Given the description of an element on the screen output the (x, y) to click on. 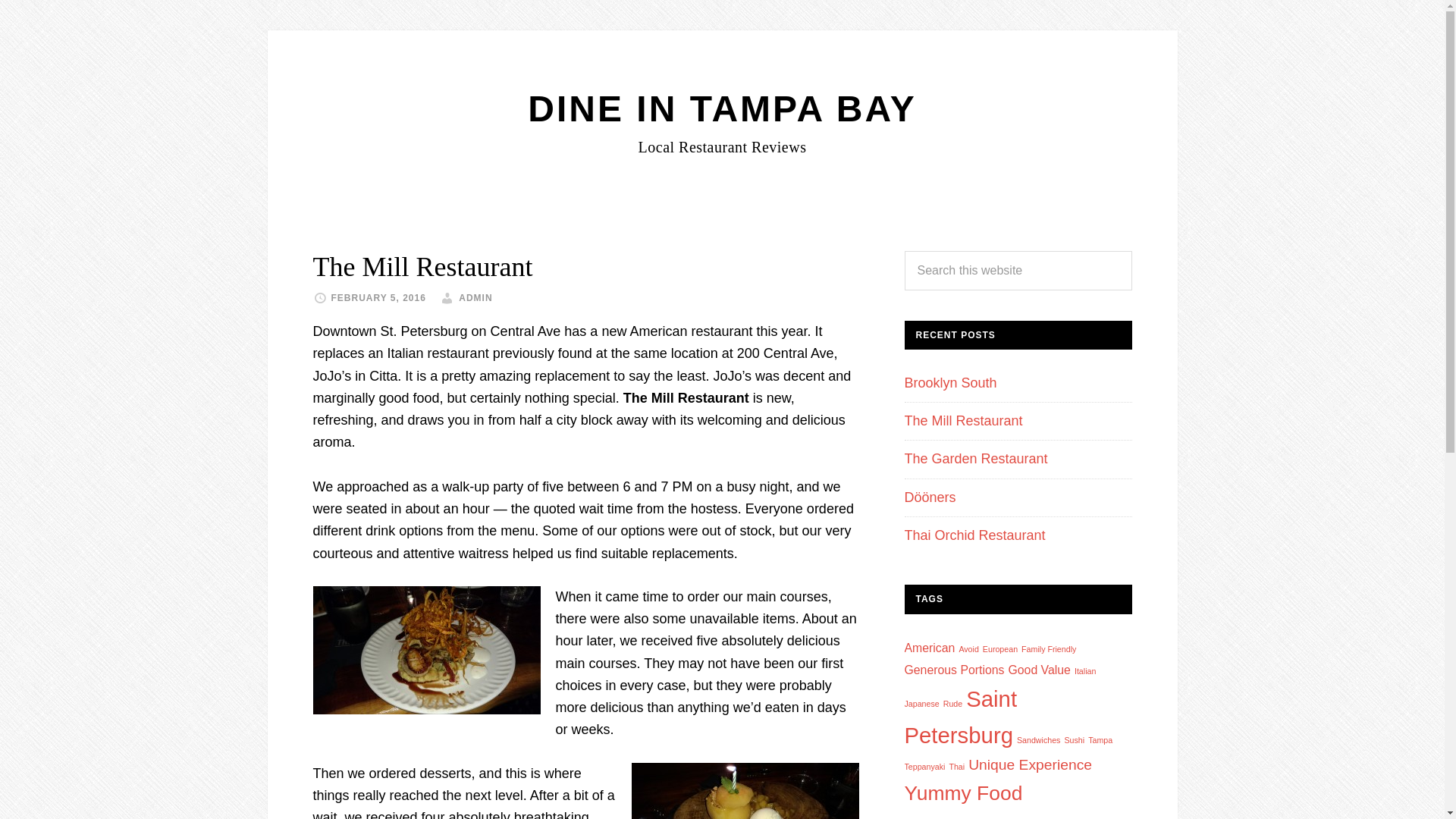
The Mill Restaurant (963, 420)
Yummy Food (963, 793)
European (999, 648)
Japanese (921, 703)
Generous Portions (954, 669)
Rude (952, 703)
Brooklyn South (949, 382)
Good Value (1039, 669)
Family Friendly (1048, 648)
American (929, 647)
Teppanyaki (924, 766)
Sandwiches (1037, 739)
Thai Orchid Restaurant (974, 534)
